Given the description of an element on the screen output the (x, y) to click on. 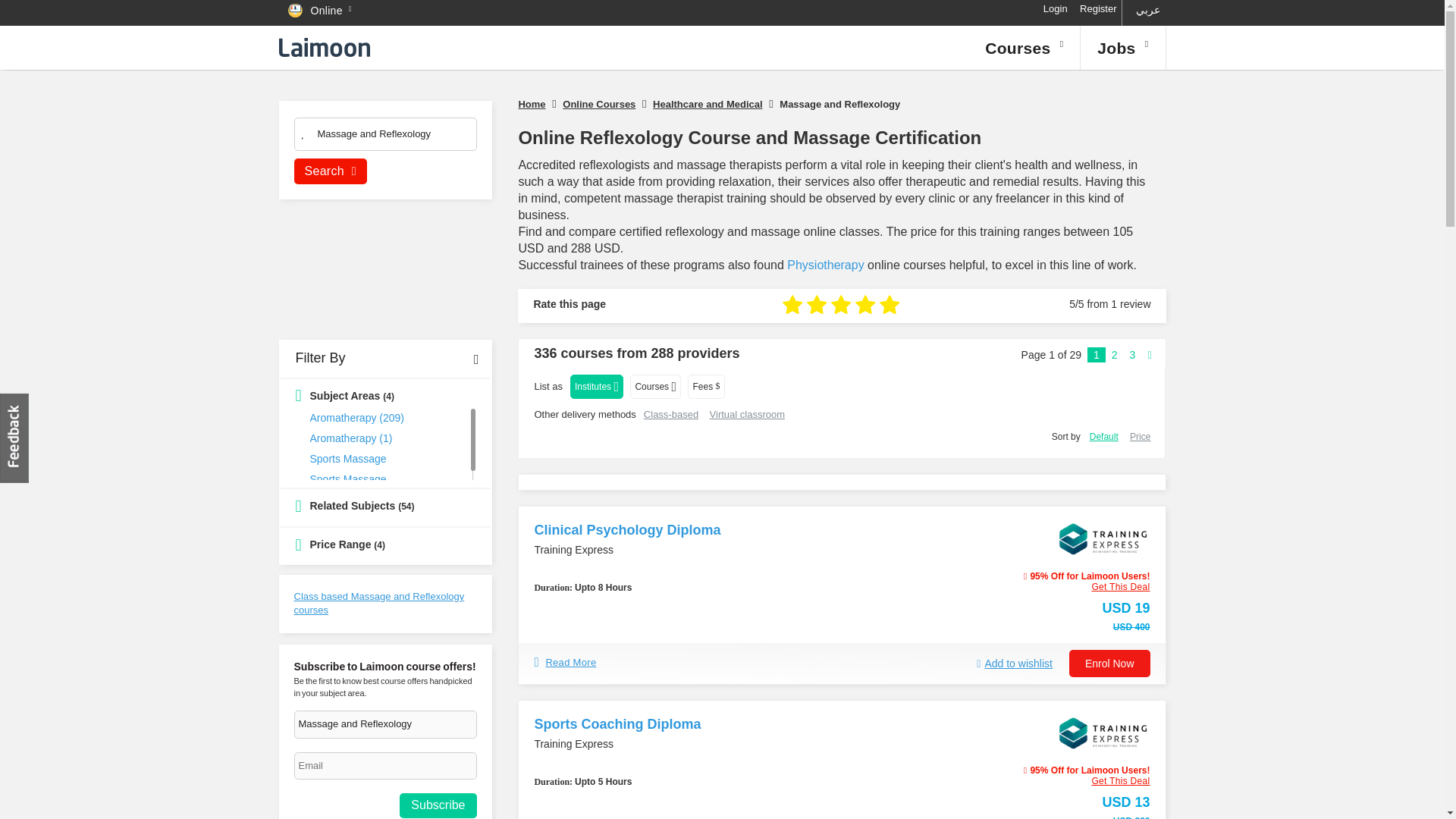
Register (1098, 9)
Massage and Reflexology (384, 136)
Courses   (1024, 47)
Massage and Reflexology (385, 724)
Register (1098, 9)
Login (1055, 9)
Jobs   (1123, 47)
Login (1055, 9)
